Given the description of an element on the screen output the (x, y) to click on. 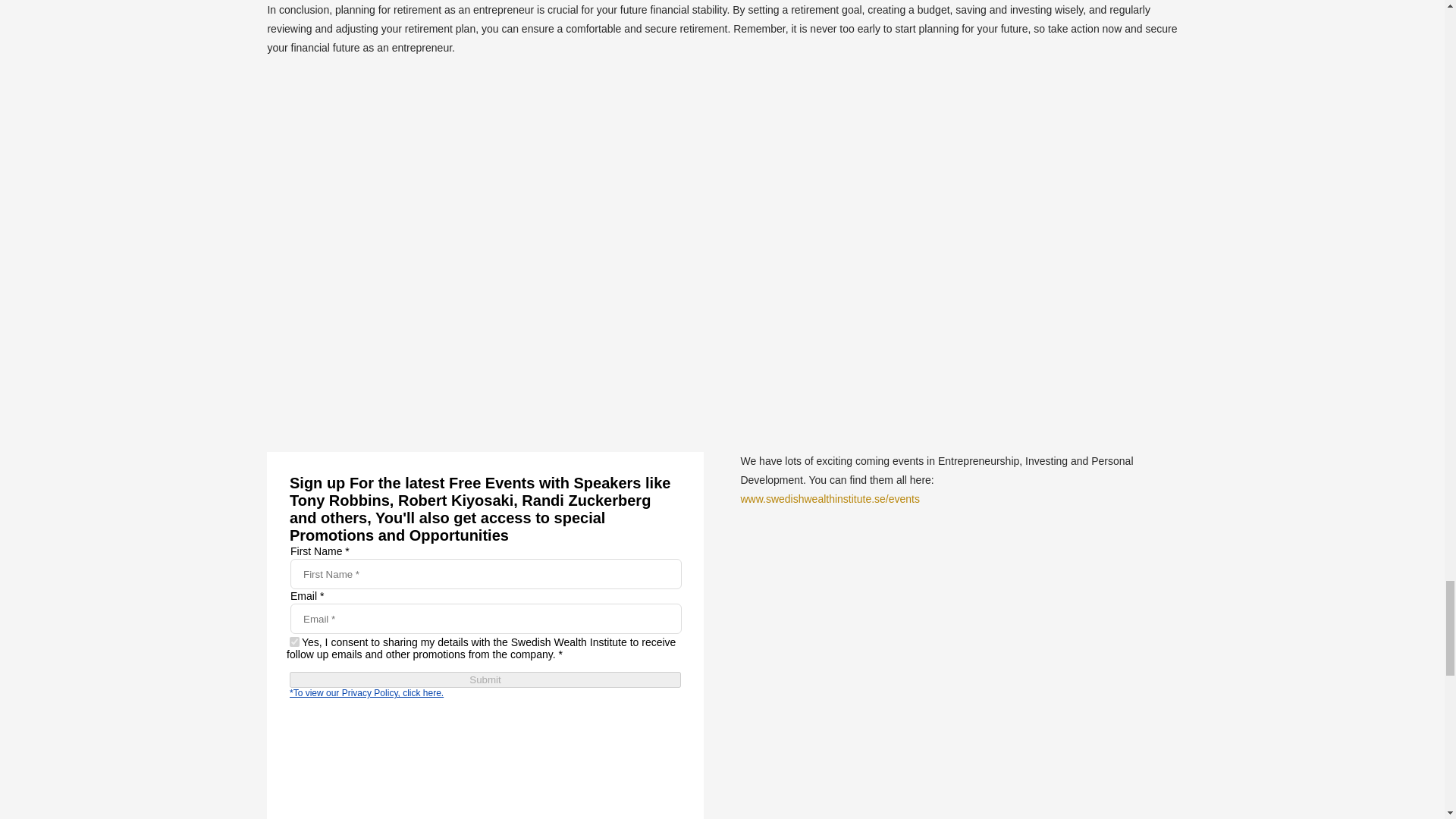
Post Comment (317, 420)
